Given the description of an element on the screen output the (x, y) to click on. 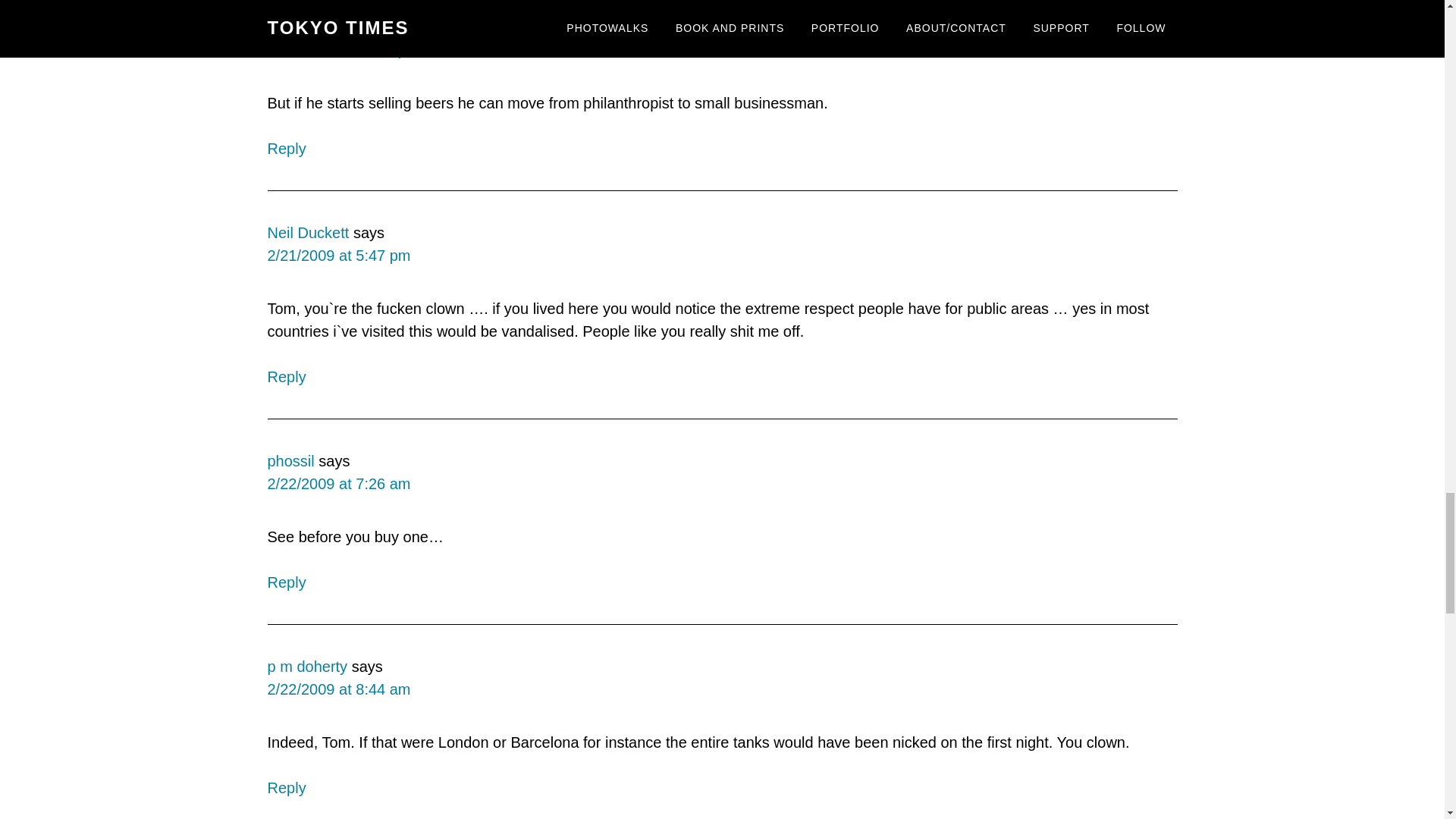
phossil (290, 460)
Ian (277, 27)
p m doherty (306, 666)
Reply (285, 148)
Neil Duckett (307, 232)
Reply (285, 582)
Reply (285, 376)
